Given the description of an element on the screen output the (x, y) to click on. 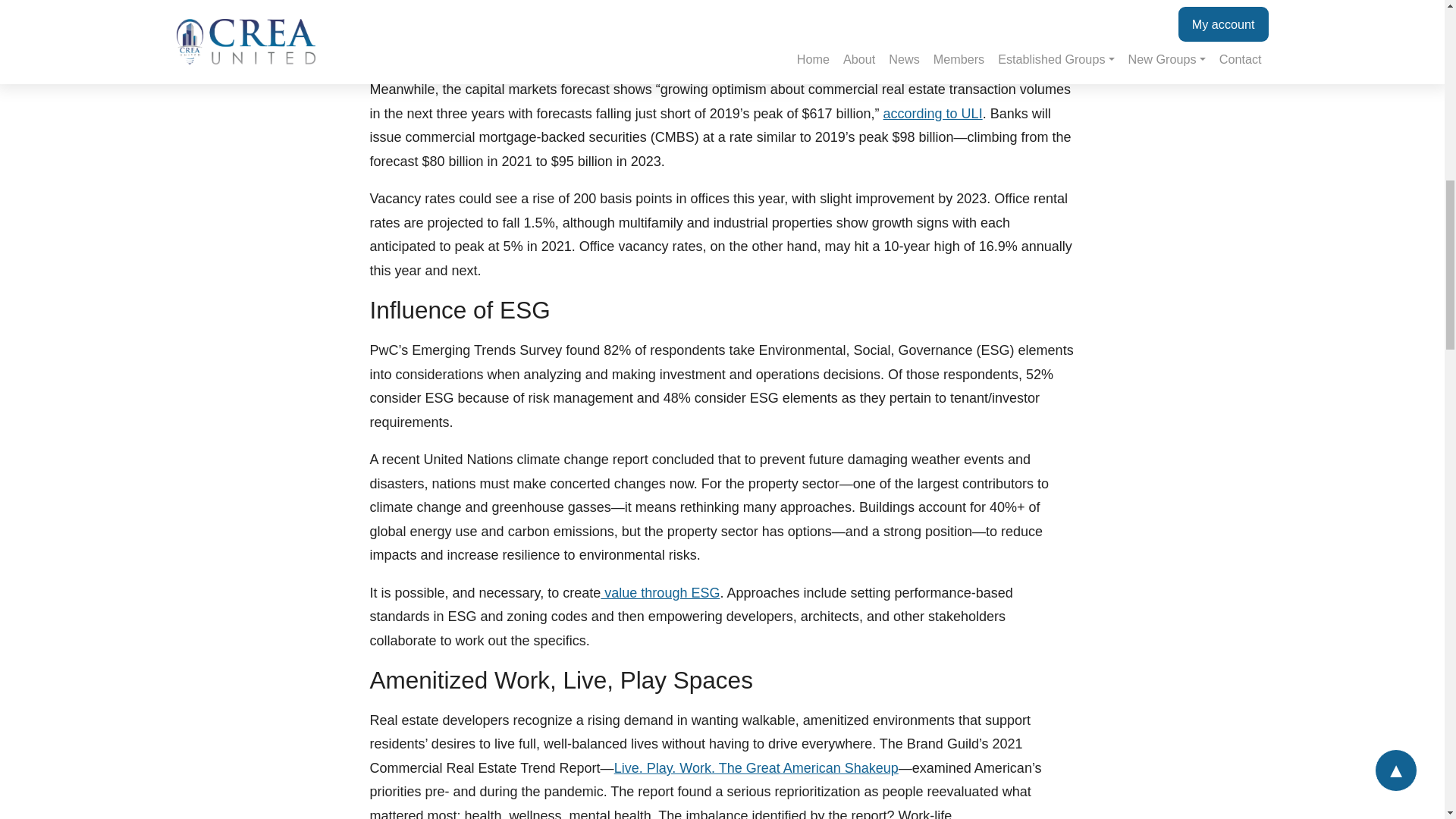
value through ESG (659, 592)
Inflation is still climbing (872, 6)
according to ULI (932, 113)
Live. Play. Work. The Great American Shakeup (756, 767)
